Given the description of an element on the screen output the (x, y) to click on. 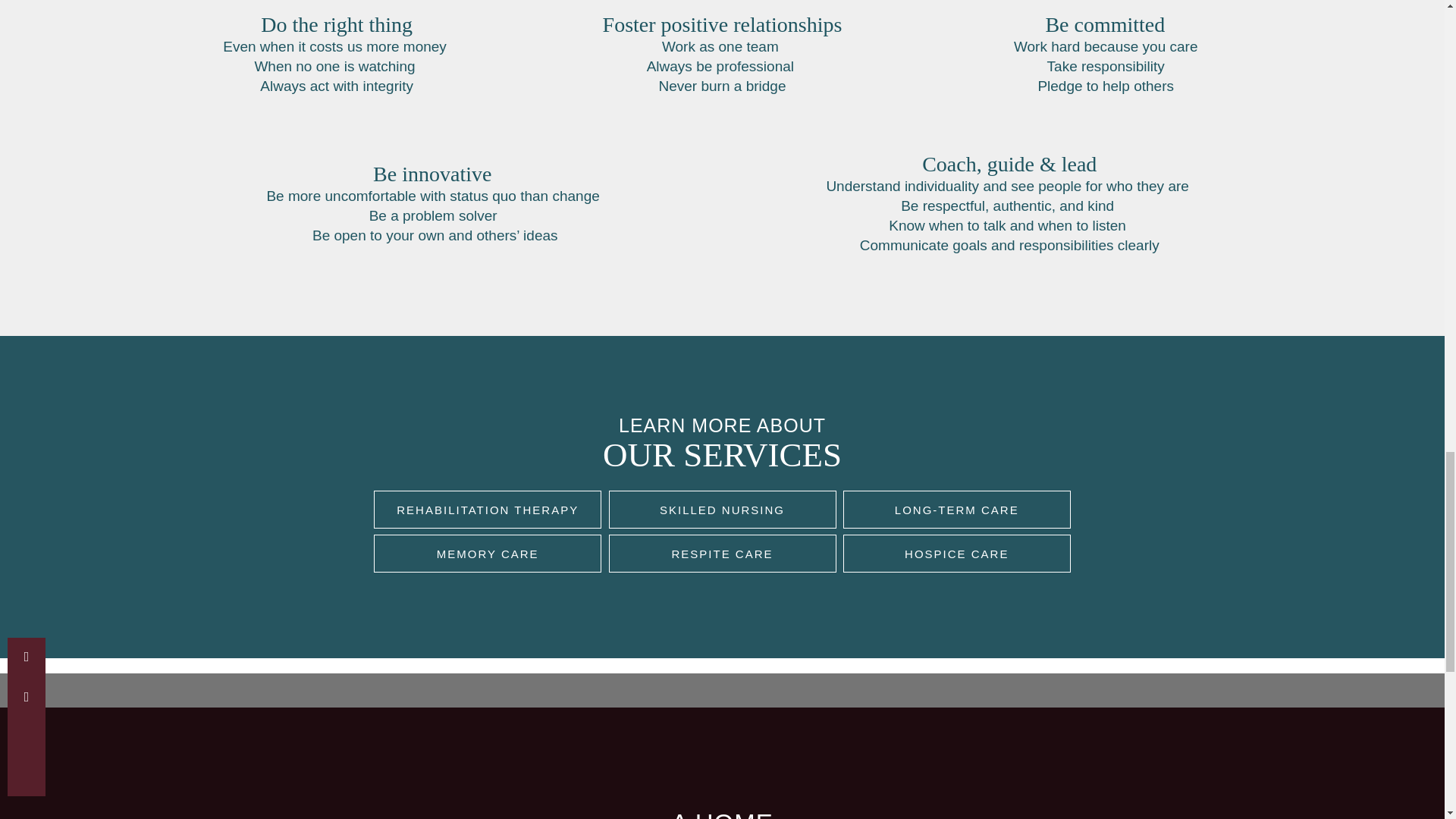
SKILLED NURSING (721, 509)
REHABILITATION THERAPY (487, 509)
MEMORY CARE (487, 553)
LONG-TERM CARE (956, 509)
